Given the description of an element on the screen output the (x, y) to click on. 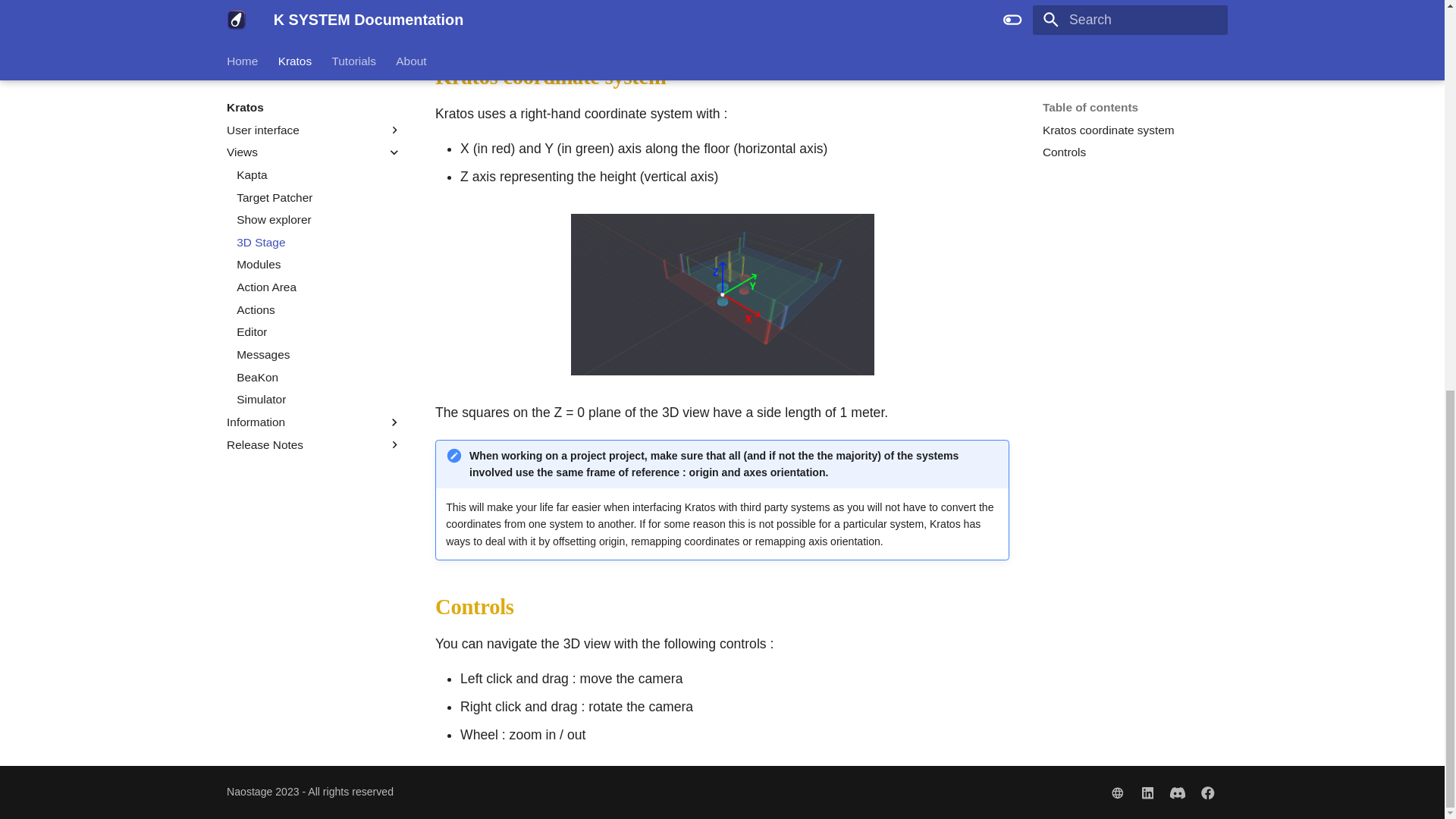
Join the discord community (1177, 791)
Our Website (1129, 27)
Join the Facebook group (1117, 791)
Get our last news (1207, 791)
